Given the description of an element on the screen output the (x, y) to click on. 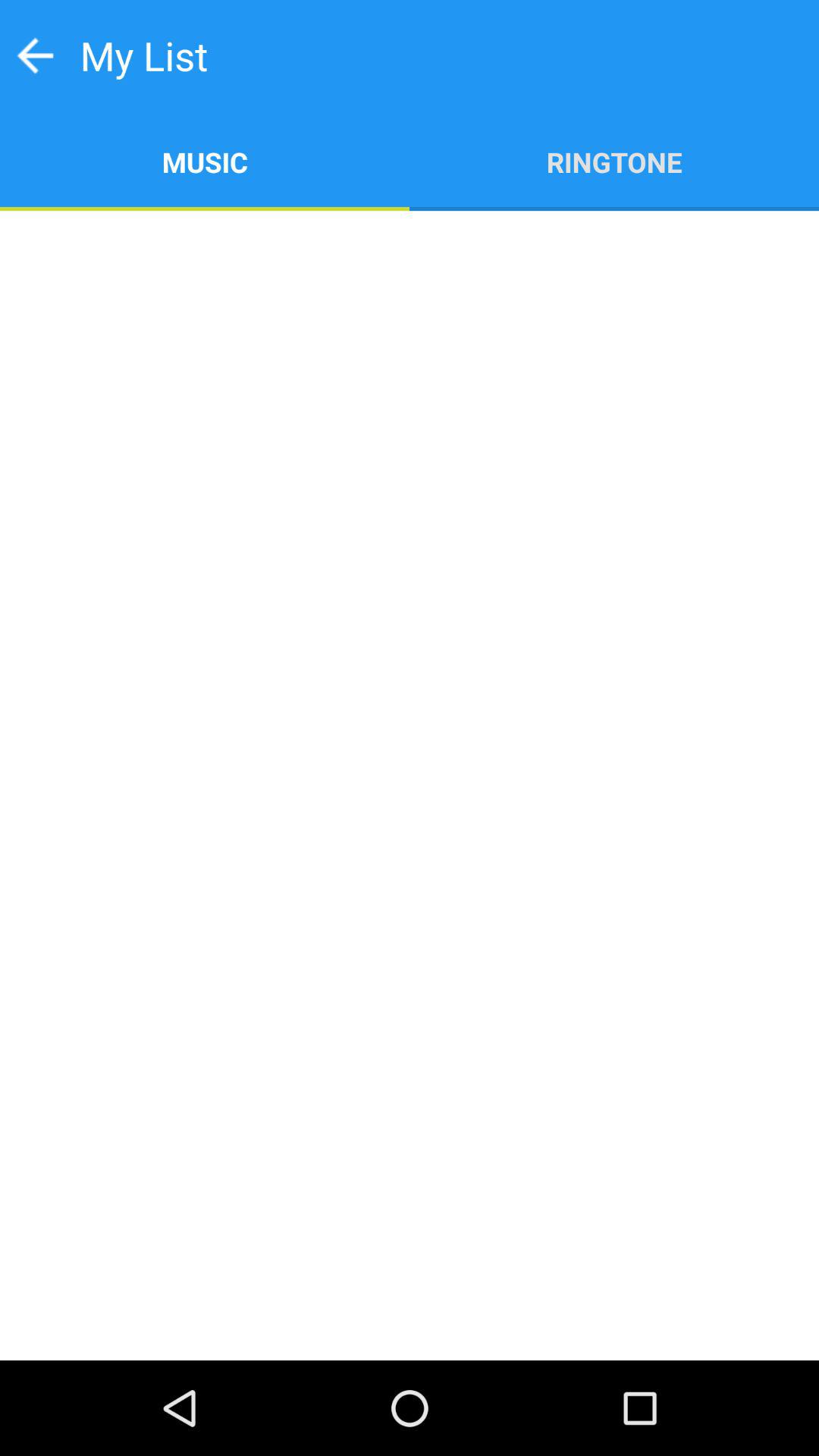
press the app to the left of the my list app (35, 55)
